Given the description of an element on the screen output the (x, y) to click on. 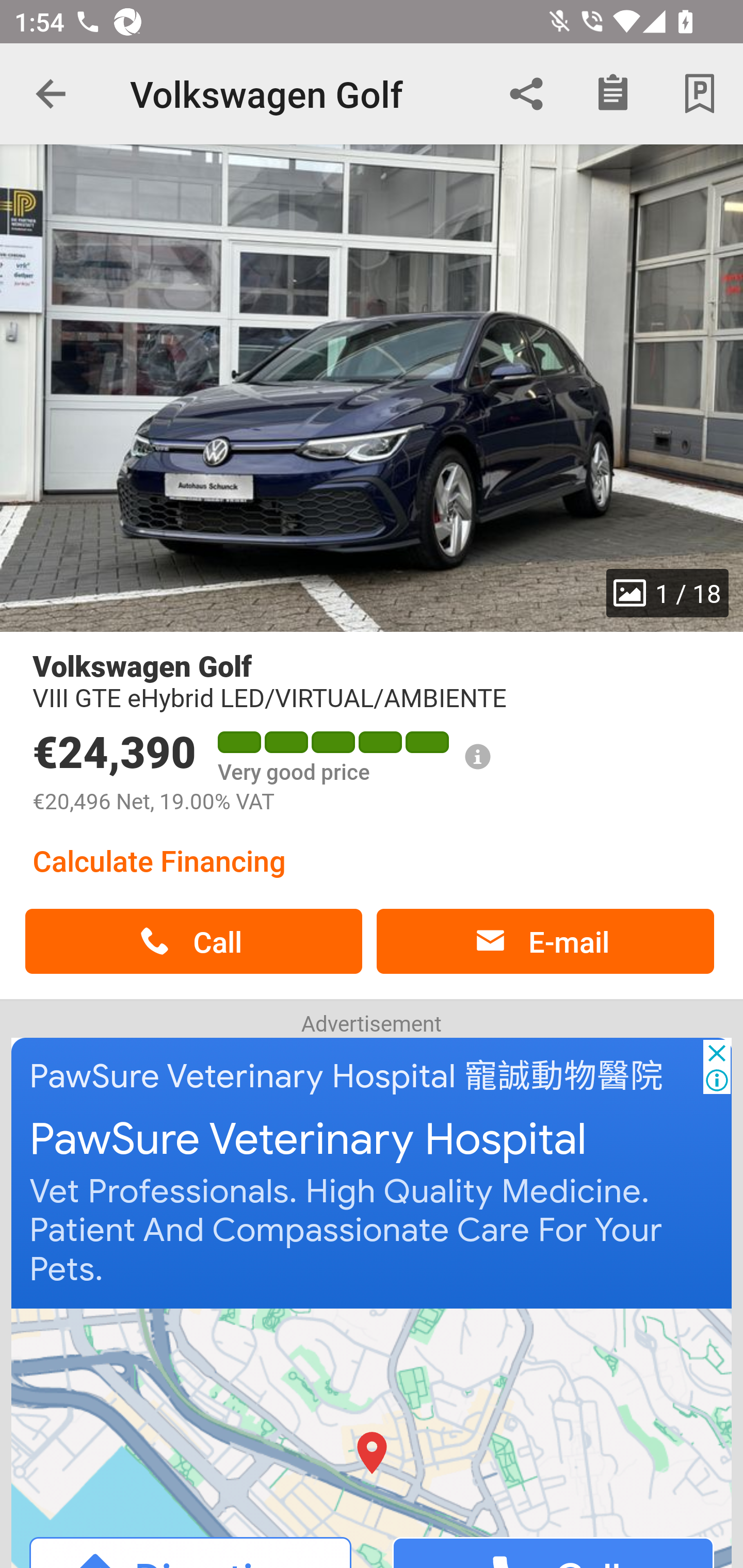
Navigate up (50, 93)
Share via (525, 93)
Checklist (612, 93)
Park (699, 93)
Calculate Financing (159, 859)
Call (193, 941)
E-mail (545, 941)
PawSure Veterinary Hospital 寵誠動物醫院 (346, 1076)
PawSure Veterinary Hospital (307, 1139)
Directions Call Directions Call (372, 1437)
